Given the description of an element on the screen output the (x, y) to click on. 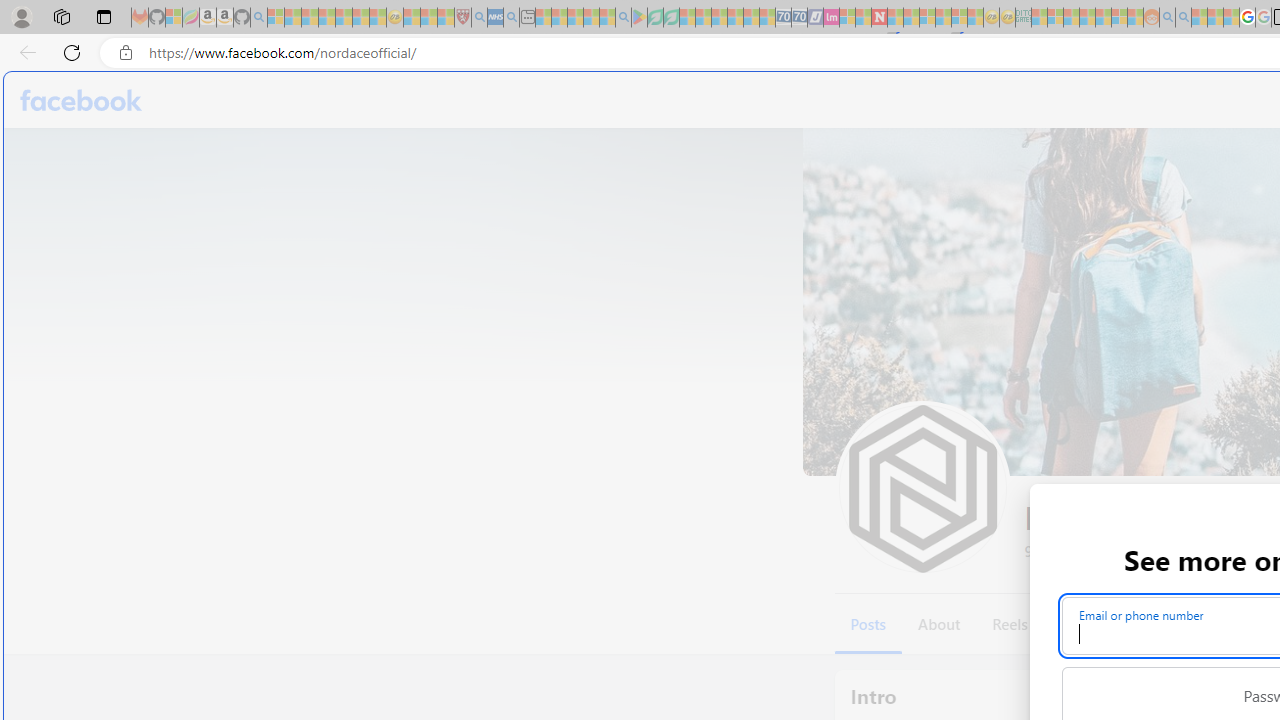
DITOGAMES AG Imprint - Sleeping (1023, 17)
Expert Portfolios - Sleeping (1087, 17)
New Report Confirms 2023 Was Record Hot | Watch - Sleeping (343, 17)
